Given the description of an element on the screen output the (x, y) to click on. 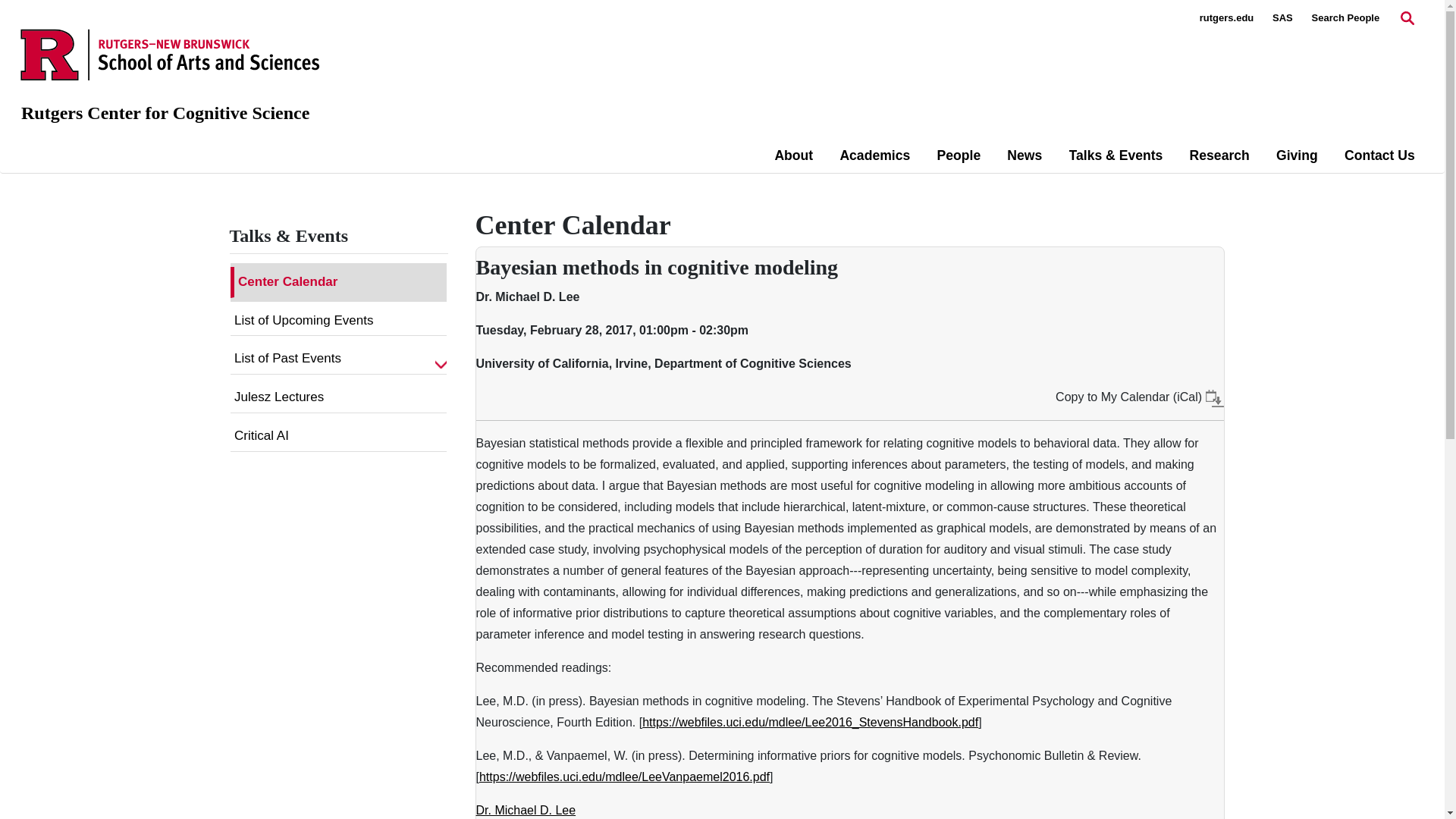
rutgers.edu (1226, 17)
Academics (875, 155)
Search People (1345, 17)
Research (1219, 155)
Rutgers Center for Cognitive Science (164, 112)
News (1024, 155)
About (793, 155)
Download as iCal file (1214, 396)
People (957, 155)
